Given the description of an element on the screen output the (x, y) to click on. 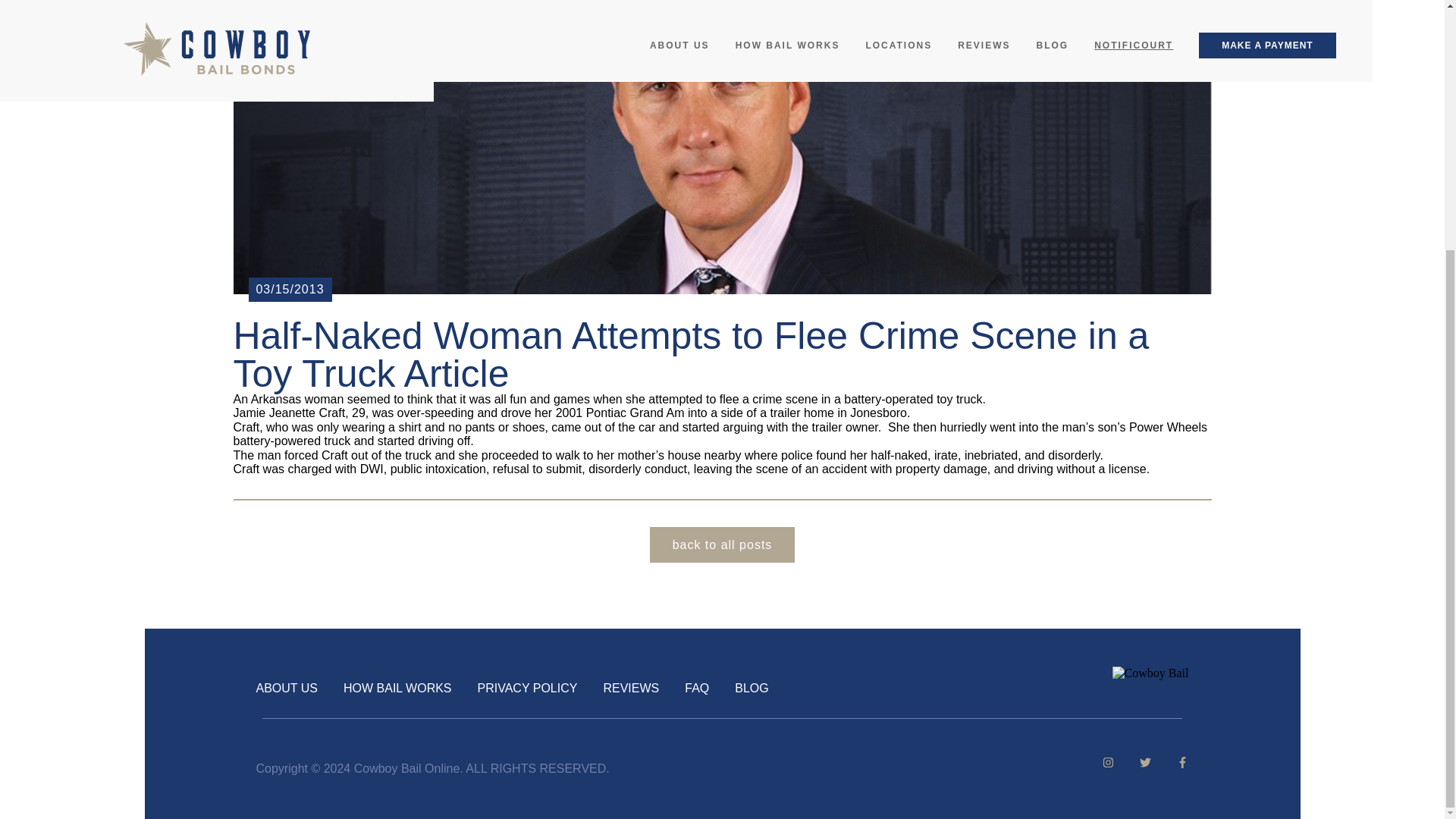
Twitter (1133, 763)
HOW BAIL WORKS (397, 687)
back to all posts (721, 544)
ABOUT US (287, 687)
Cowboy Bail (1150, 673)
Facebook (1171, 763)
Facebook (1096, 763)
REVIEWS (630, 687)
FAQ (696, 687)
BLOG (751, 687)
